Given the description of an element on the screen output the (x, y) to click on. 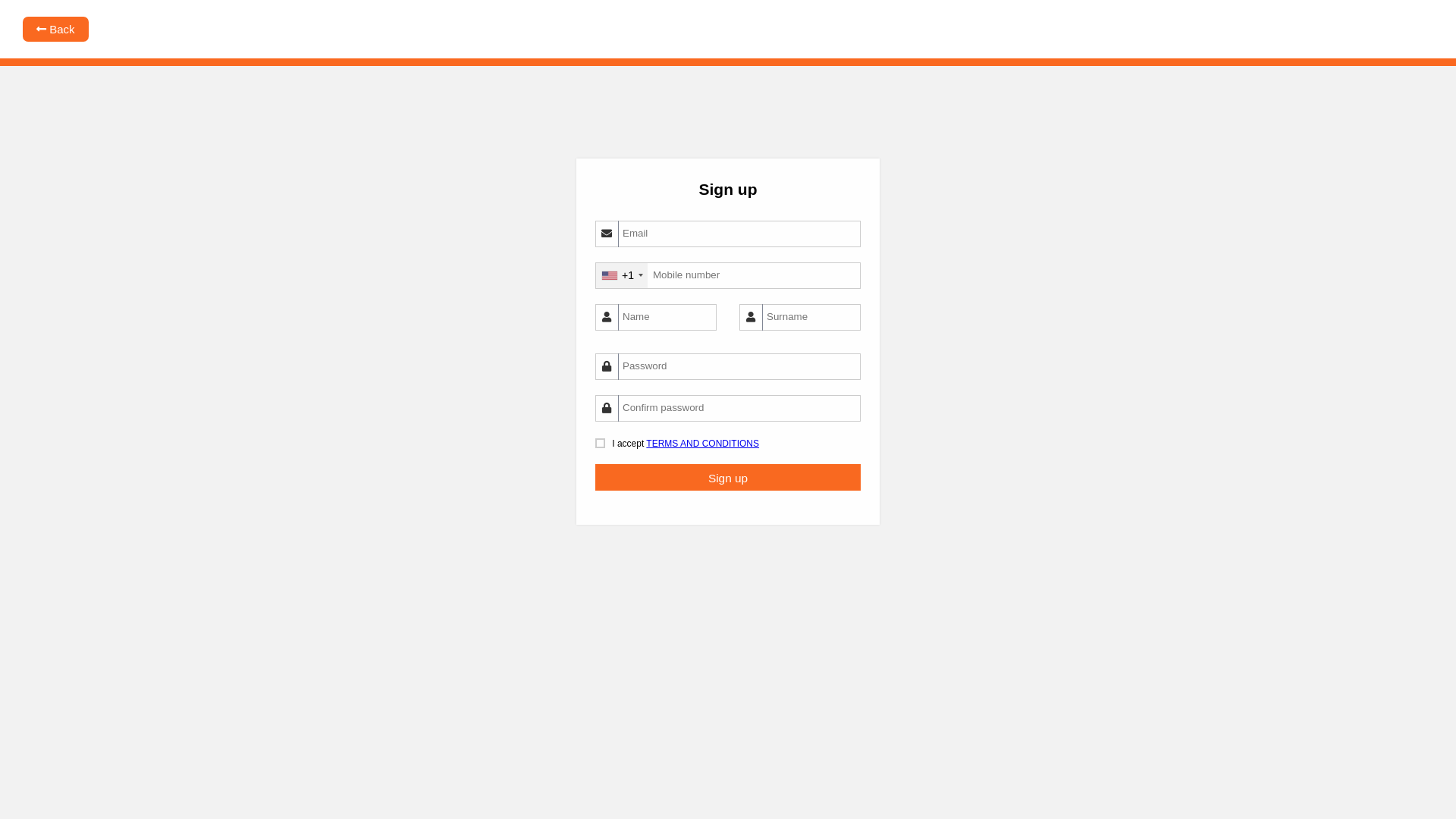
TERMS AND CONDITIONS Element type: text (702, 443)
Back Element type: text (55, 28)
Sign up Element type: text (727, 477)
